Given the description of an element on the screen output the (x, y) to click on. 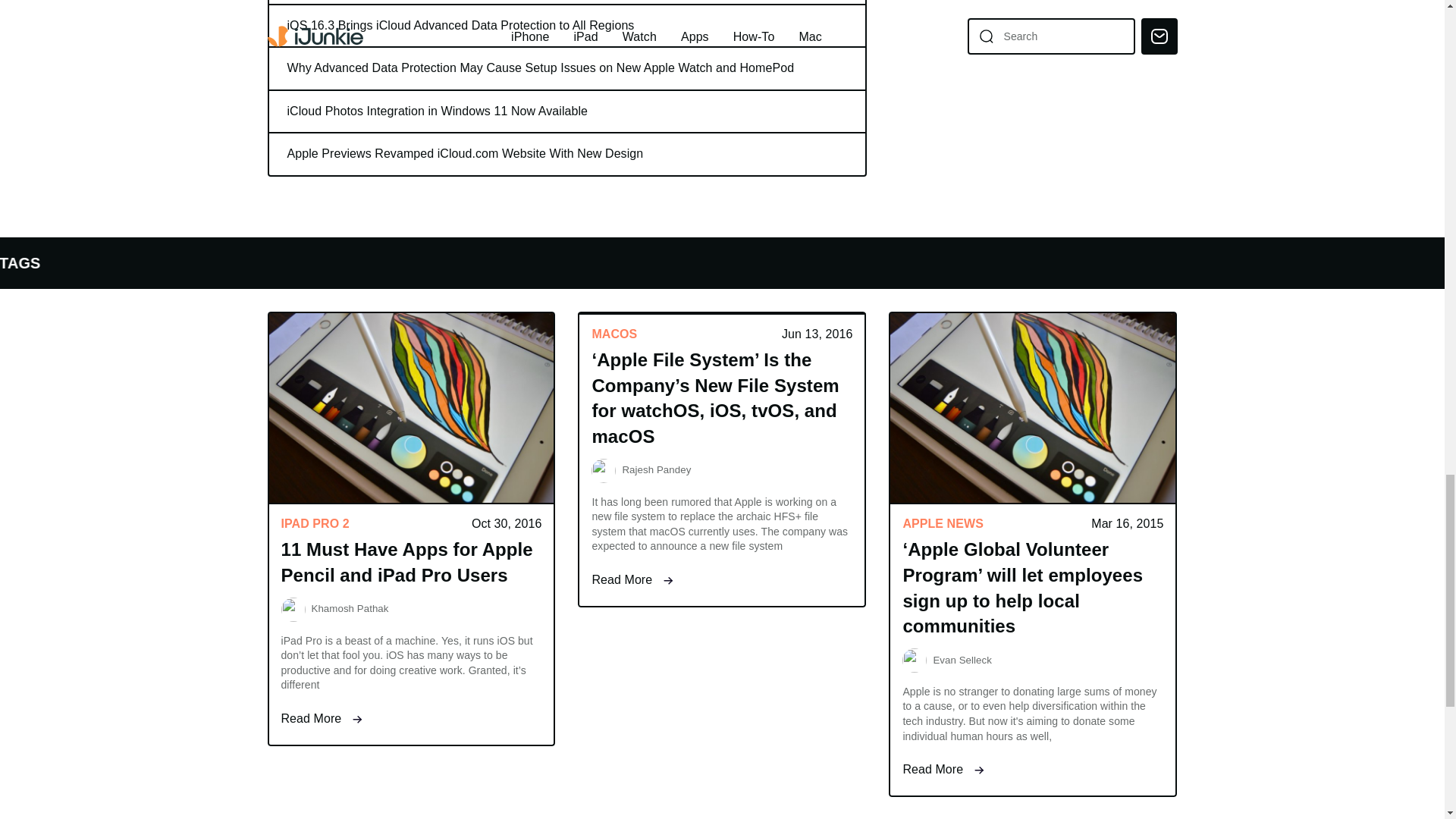
AIRPODS (235, 262)
APPLE PENCIL (356, 262)
HOMEPOD (480, 262)
APPLE NEWS (16, 262)
APPLE WATCH (117, 262)
Apple Previews Revamped iCloud.com Website With New Design (565, 153)
AIRTAGS (583, 262)
iCloud Photos Integration in Windows 11 Now Available (565, 110)
